Given the description of an element on the screen output the (x, y) to click on. 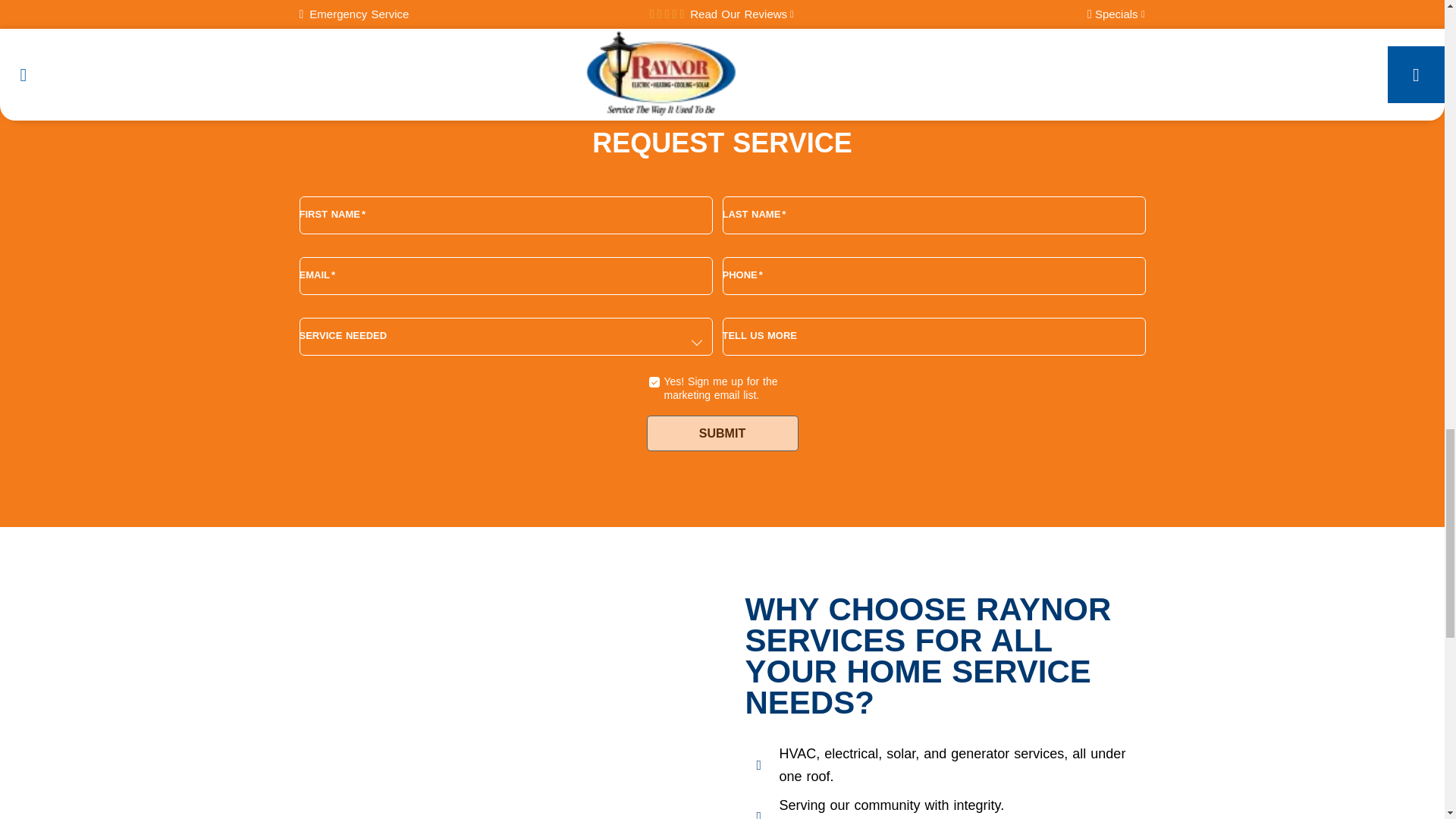
Yes! Sign me up for the marketing email list. (654, 381)
